Given the description of an element on the screen output the (x, y) to click on. 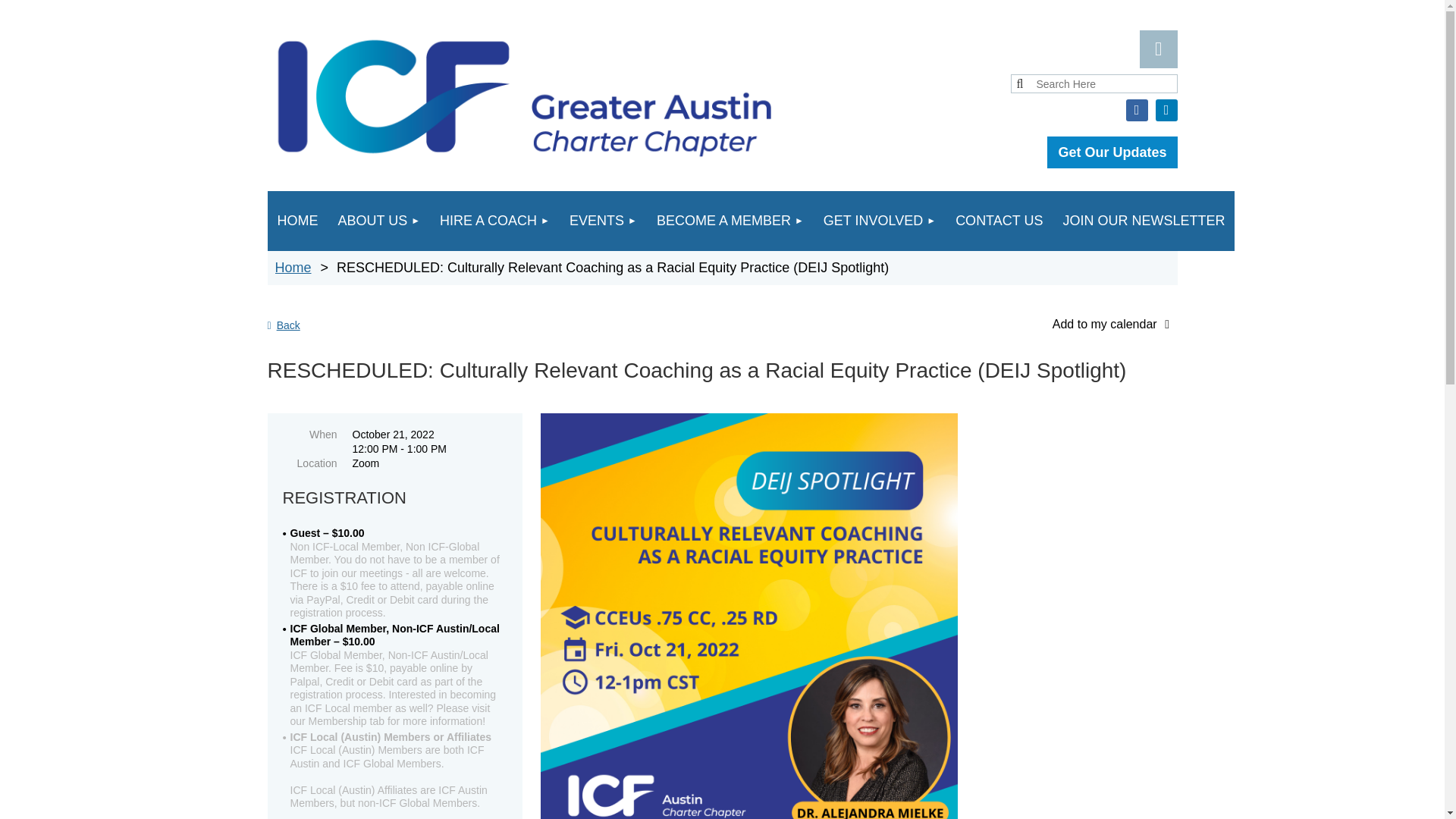
Log in (1157, 48)
HOME (296, 220)
HIRE A COACH (494, 220)
ABOUT US (378, 220)
Get Our Updates (1111, 152)
EVENTS (602, 220)
